Given the description of an element on the screen output the (x, y) to click on. 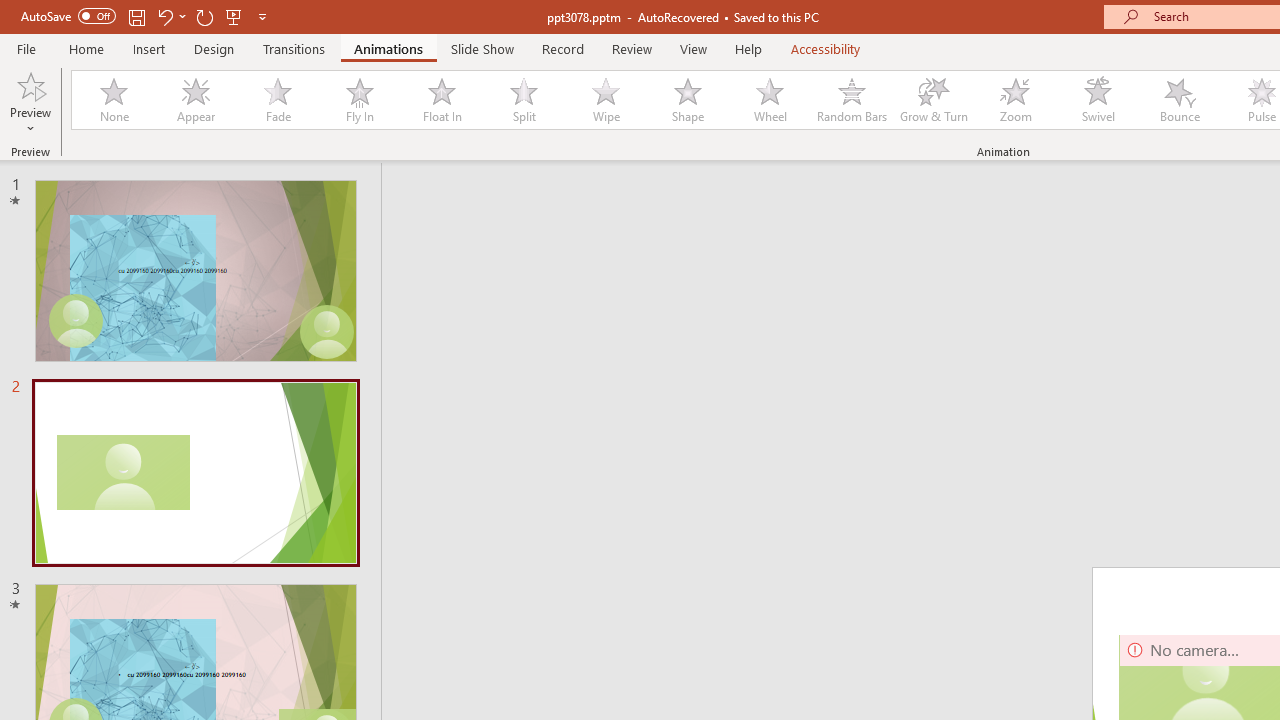
File Tab (26, 48)
Grow & Turn (934, 100)
Split (523, 100)
Redo (204, 15)
Customize Quick Access Toolbar (262, 15)
System (10, 11)
Save (136, 15)
Accessibility (825, 48)
Appear (195, 100)
Preview (30, 84)
Slide (195, 473)
Zoom (1016, 100)
More Options (30, 121)
Help (748, 48)
Float In (441, 100)
